Given the description of an element on the screen output the (x, y) to click on. 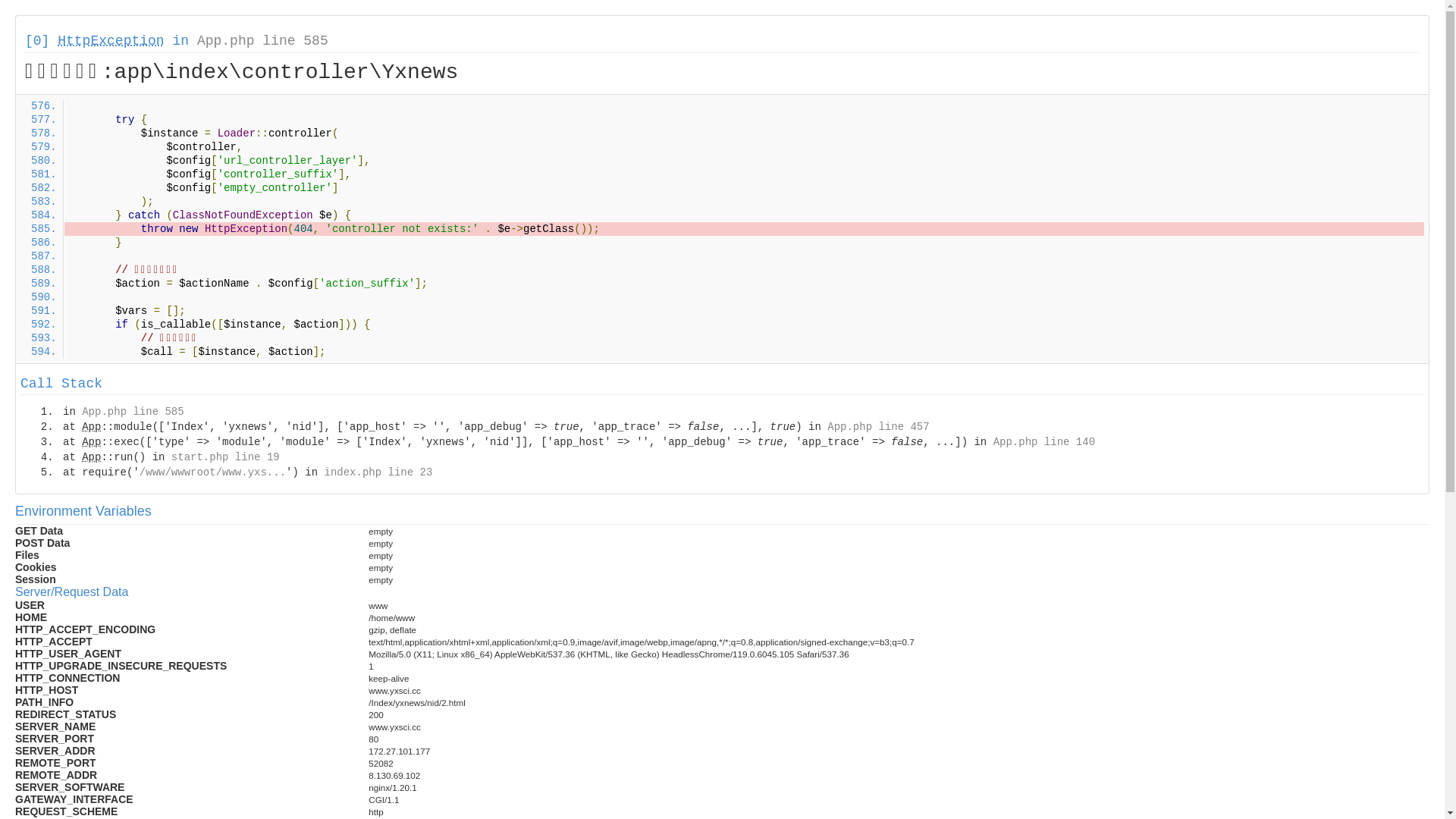
index.php line 23 Element type: text (377, 472)
App.php line 585 Element type: text (132, 411)
App.php line 457 Element type: text (877, 426)
start.php line 19 Element type: text (225, 457)
App.php line 140 Element type: text (1044, 442)
/www/wwwroot/www.yxs... Element type: text (212, 472)
App.php line 585 Element type: text (262, 40)
